Given the description of an element on the screen output the (x, y) to click on. 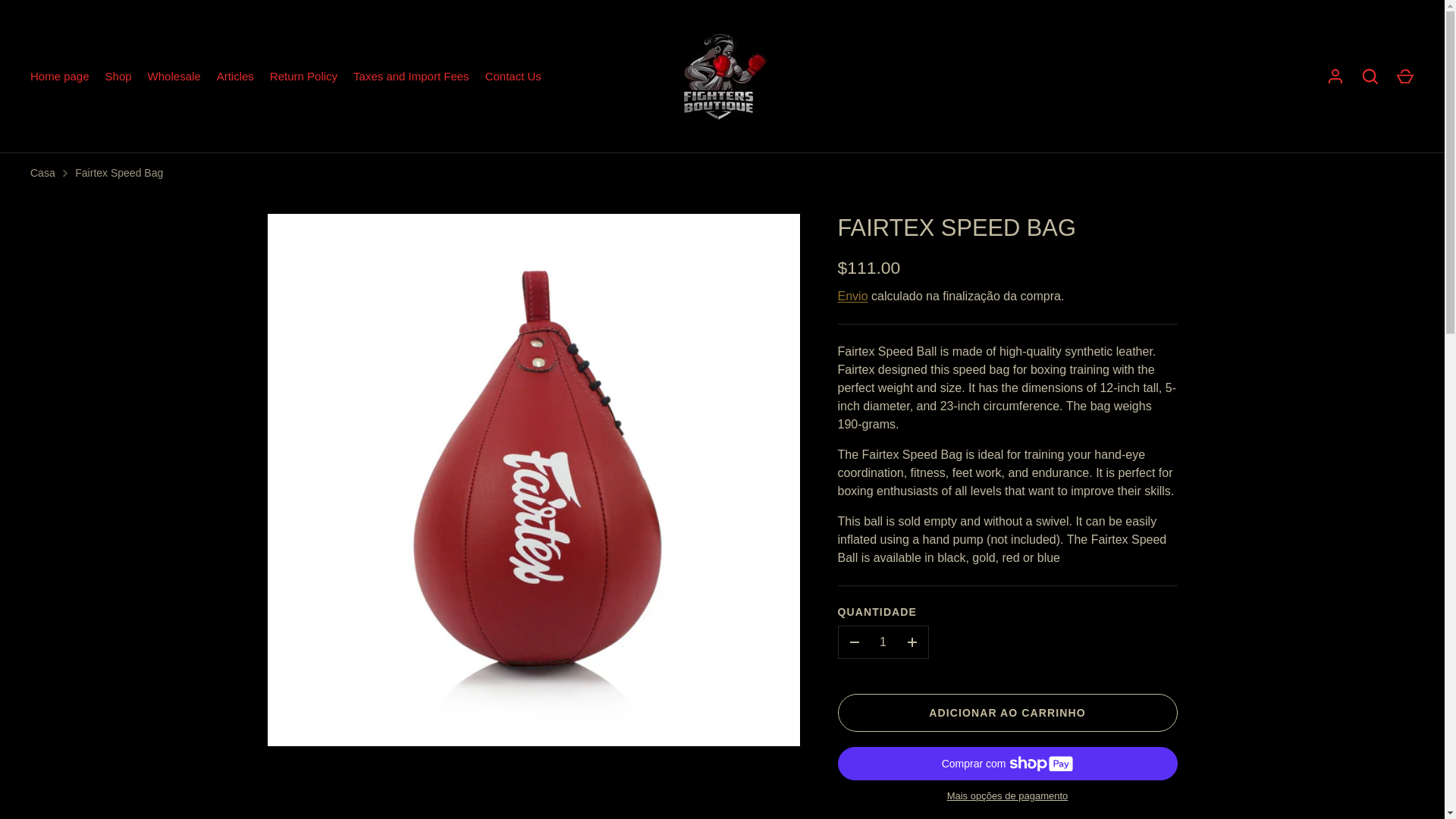
1 (883, 642)
Home page (60, 76)
Shop (118, 76)
